Given the description of an element on the screen output the (x, y) to click on. 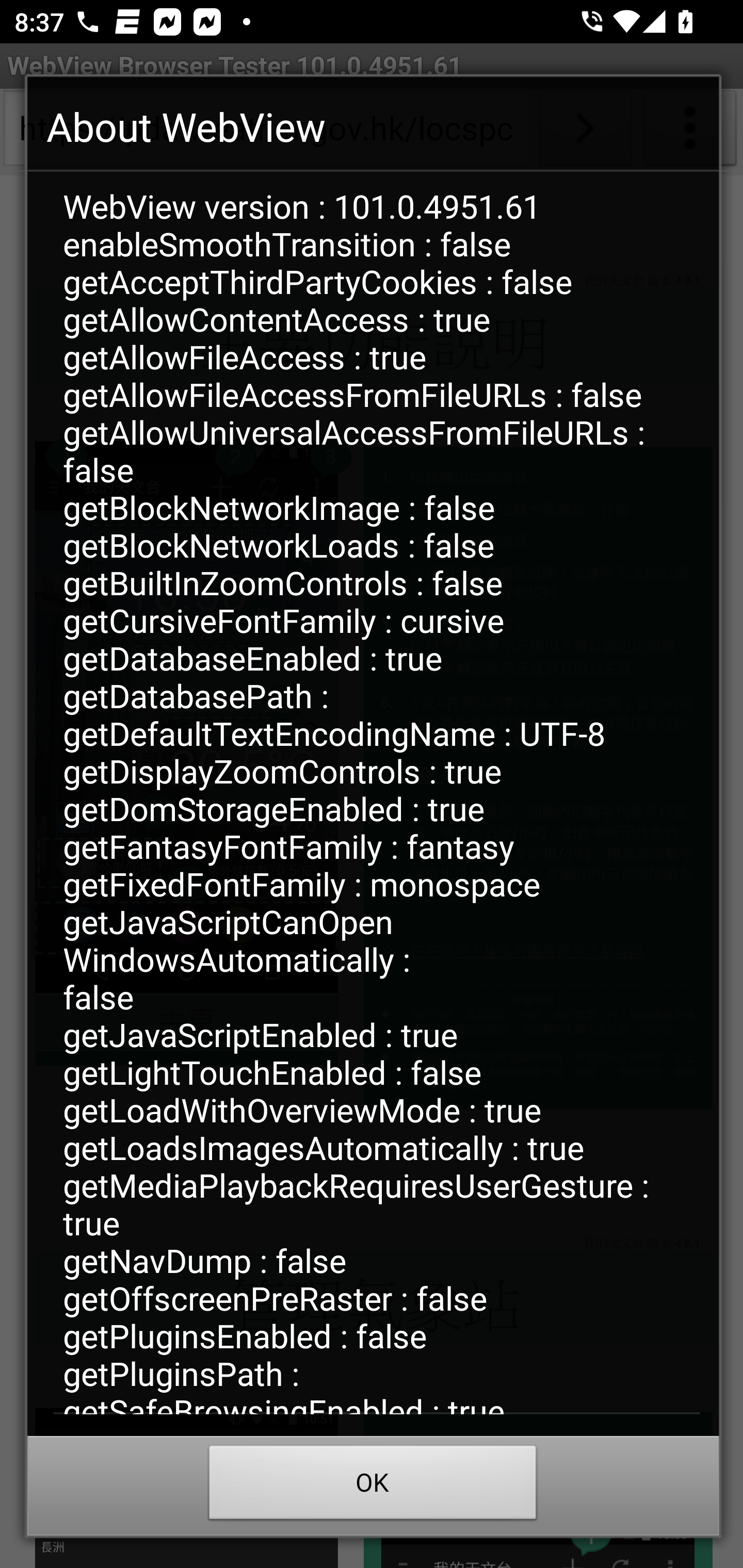
OK (372, 1486)
